Given the description of an element on the screen output the (x, y) to click on. 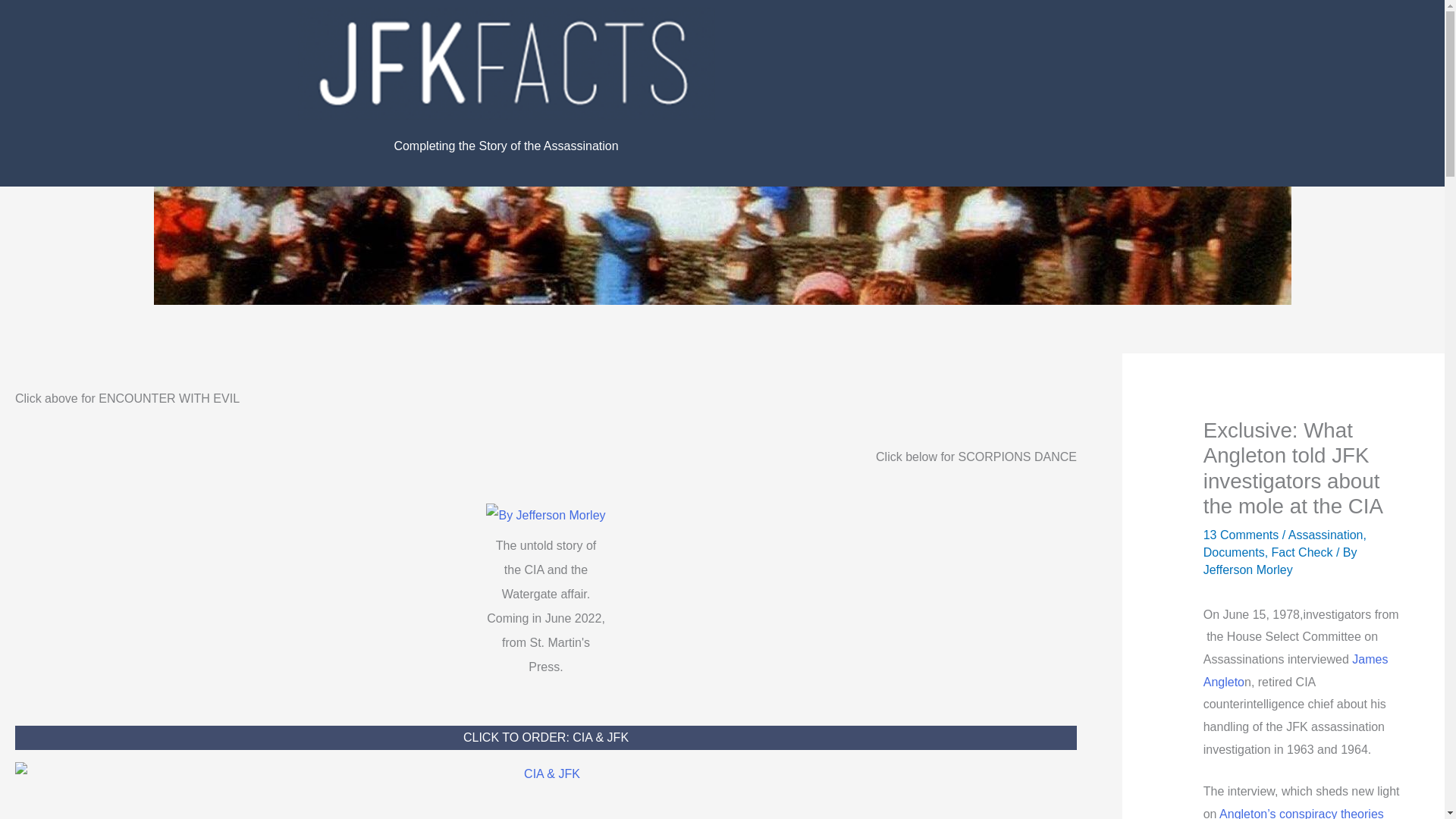
View all posts by Jefferson Morley (1248, 569)
13 Comments (1241, 534)
Completing the Story of the Assassination (505, 145)
Documents (1234, 552)
Assassination (1325, 534)
Book cover (545, 515)
James Angleto (1296, 670)
Jefferson Morley (1248, 569)
Fact Check (1302, 552)
